Given the description of an element on the screen output the (x, y) to click on. 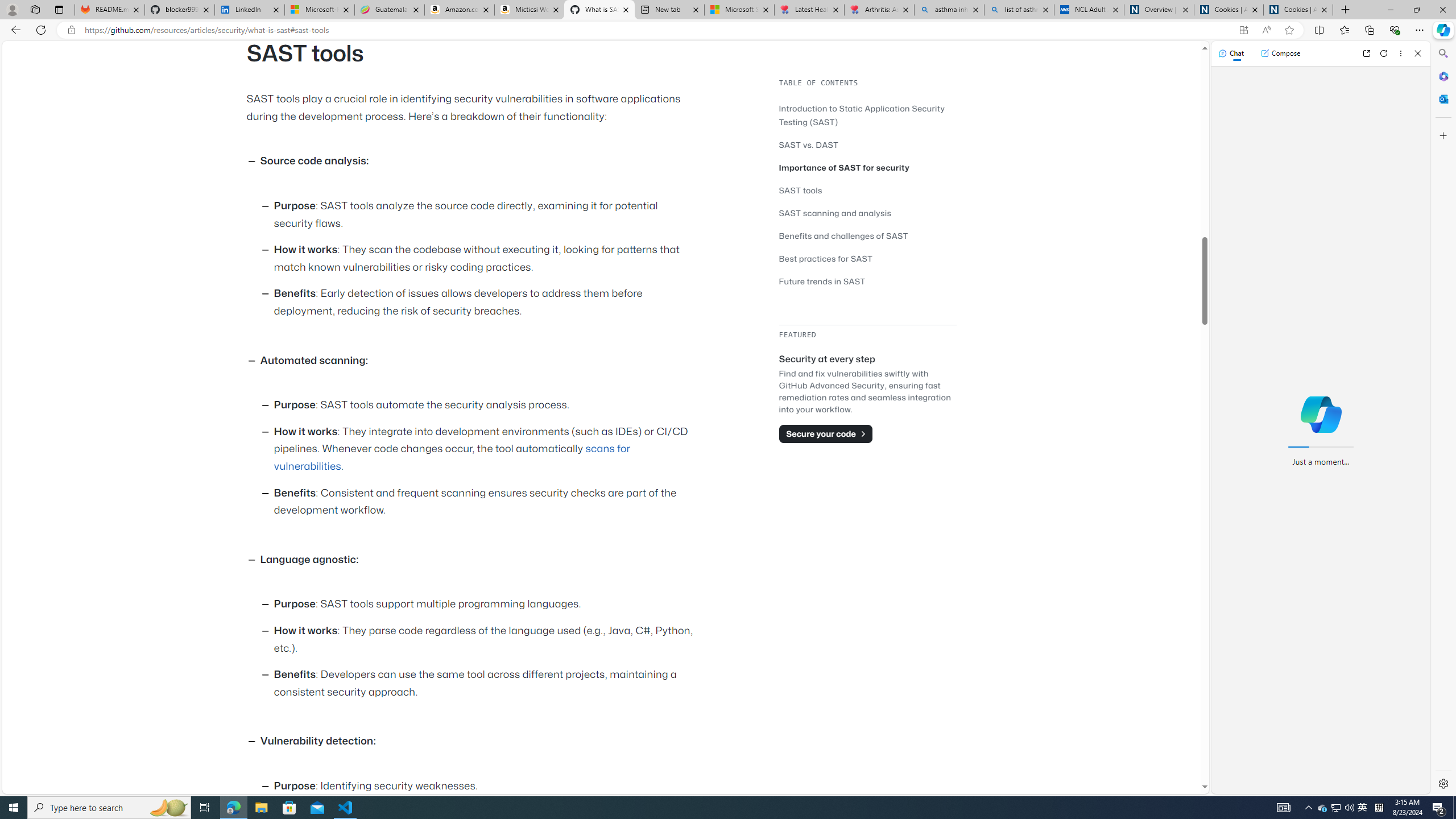
asthma inhaler - Search (949, 9)
Close Customize pane (1442, 135)
Introduction to Static Application Security Testing (SAST) (867, 115)
